Given the description of an element on the screen output the (x, y) to click on. 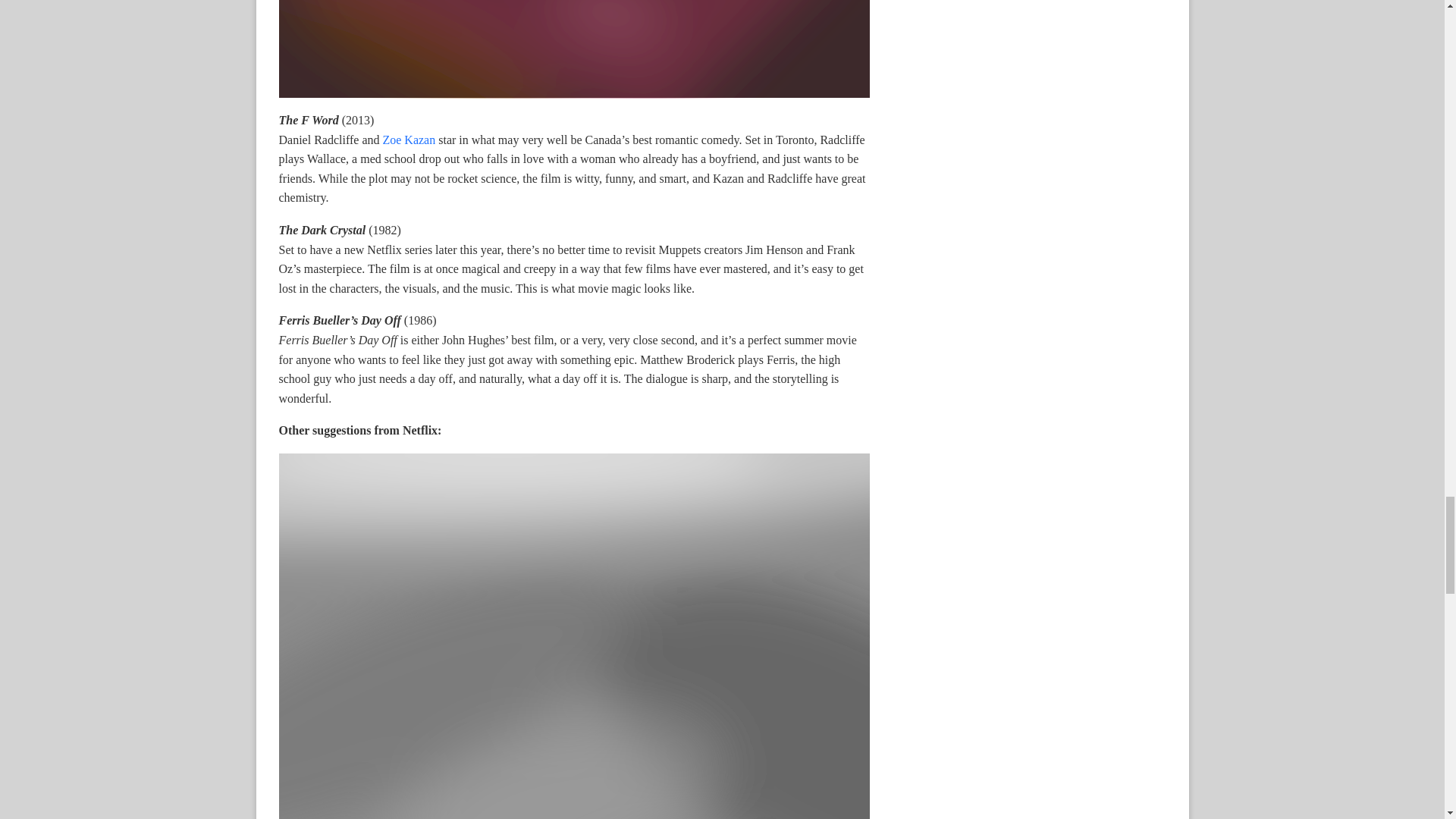
Zoe Kazan (408, 139)
